Given the description of an element on the screen output the (x, y) to click on. 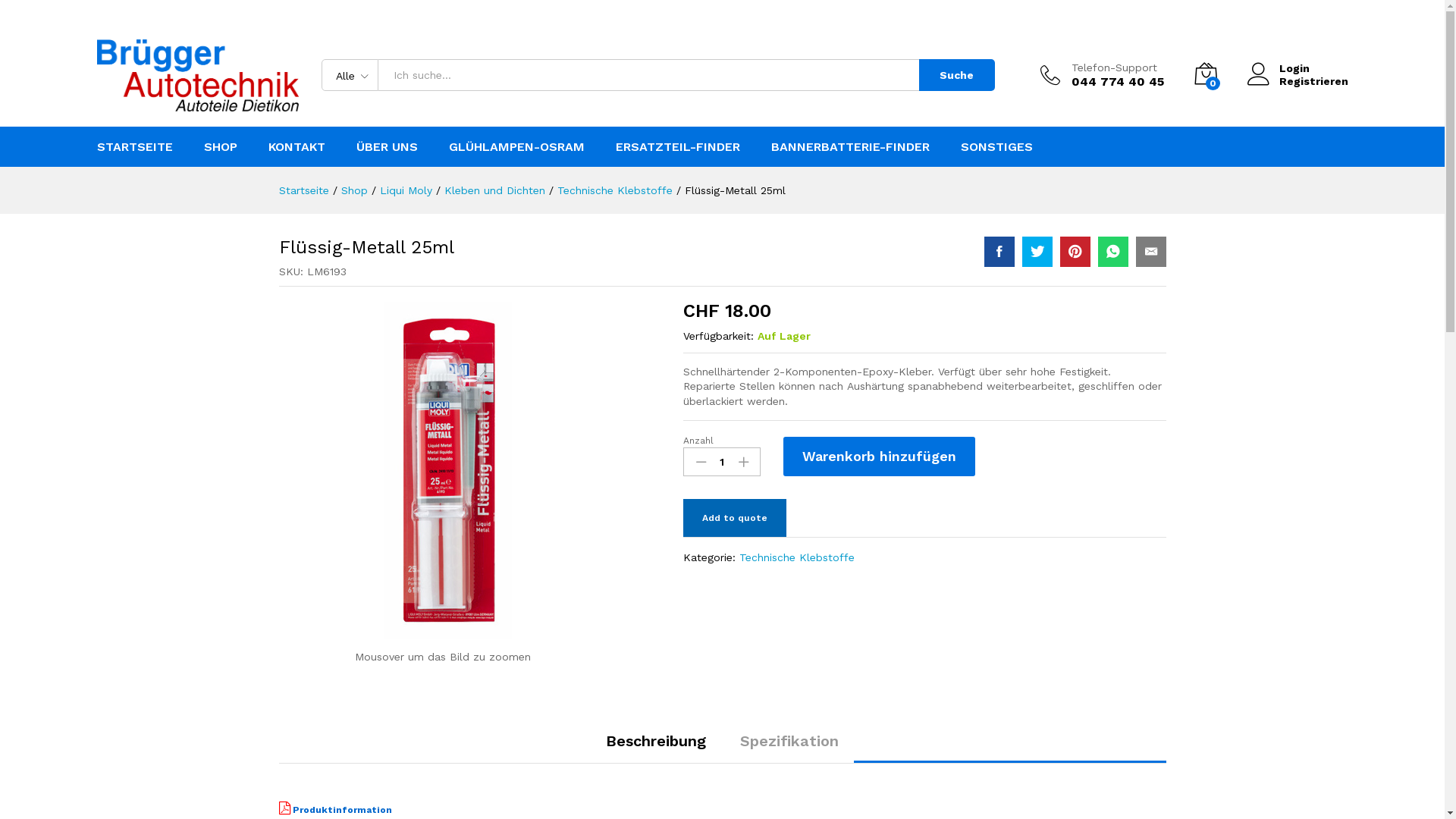
Add to quote Element type: text (734, 517)
Shop Element type: text (354, 190)
0 Element type: text (1204, 74)
Technische Klebstoffe Element type: text (613, 190)
BANNERBATTERIE-FINDER Element type: text (849, 147)
Fl%C3%BCssig-Metall+25ml Element type: hover (1037, 251)
Beschreibung Element type: text (655, 740)
SONSTIGES Element type: text (996, 147)
Spezifikation Element type: text (789, 740)
Registrieren Element type: text (1296, 81)
Produktinformation Element type: text (335, 809)
Liqui Moly Element type: text (405, 190)
STARTSEITE Element type: text (134, 147)
Qty Element type: hover (721, 461)
Kleben und Dichten Element type: text (494, 190)
Startseite Element type: text (304, 190)
Login Element type: text (1296, 68)
Technische Klebstoffe Element type: text (796, 557)
Fl%C3%BCssig-Metall+25ml Element type: hover (1075, 251)
Suche Element type: text (956, 75)
KONTAKT Element type: text (296, 147)
SHOP Element type: text (219, 147)
6193 Element type: hover (447, 469)
ERSATZTEIL-FINDER Element type: text (677, 147)
